Given the description of an element on the screen output the (x, y) to click on. 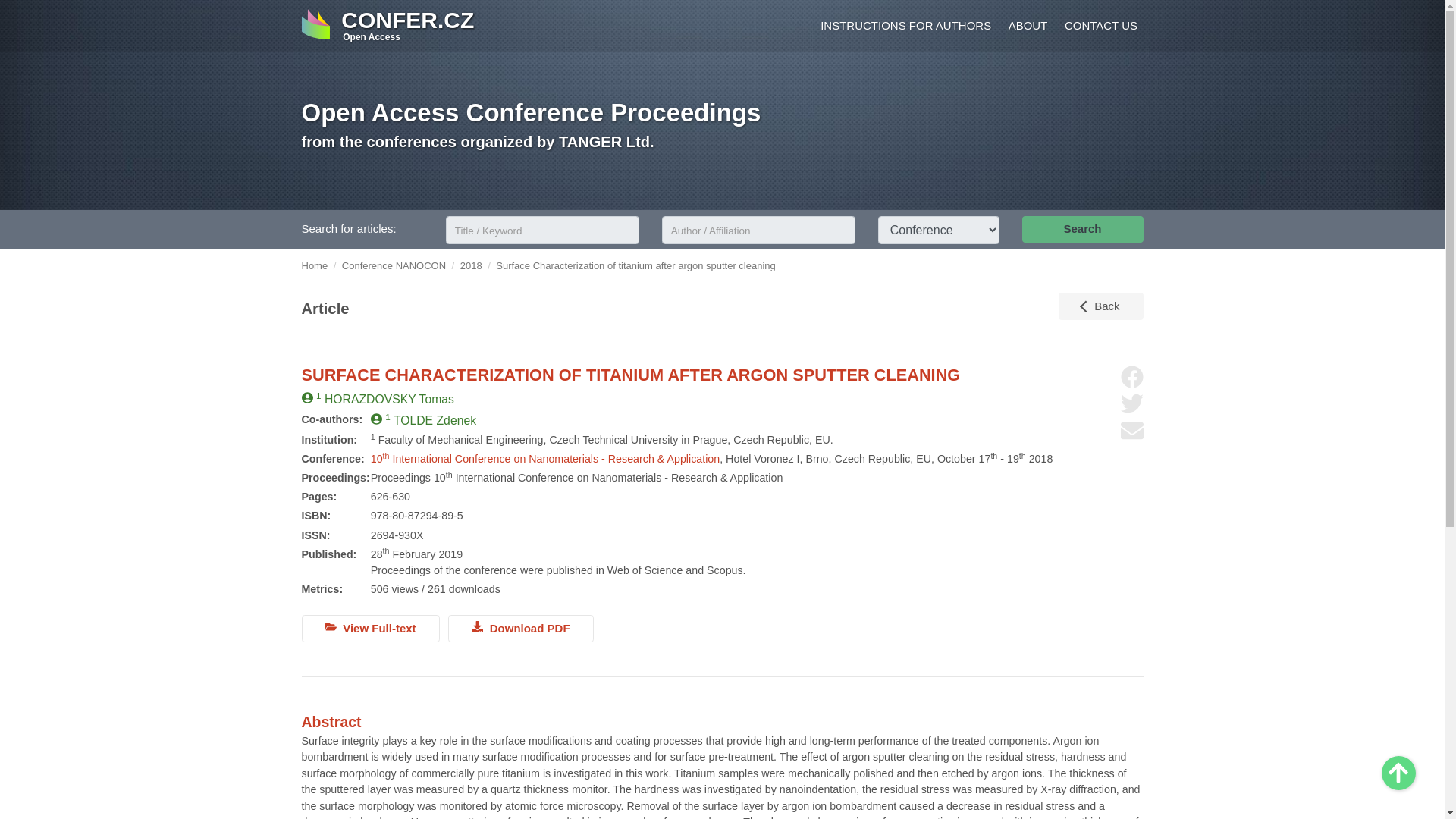
Scroll to Top (1398, 772)
CONTACT US (1097, 26)
INSTRUCTIONS FOR AUTHORS (903, 26)
Back (1100, 306)
Conference NANOCON (393, 265)
2018 (470, 265)
Download PDF (521, 628)
Open Access Conference Proceedings (531, 112)
Scroll to Top (1398, 772)
Share on Twitter (1131, 403)
Send by email (1131, 430)
Search (1082, 229)
View Full-text (370, 628)
Share on Facebook (1131, 376)
